Given the description of an element on the screen output the (x, y) to click on. 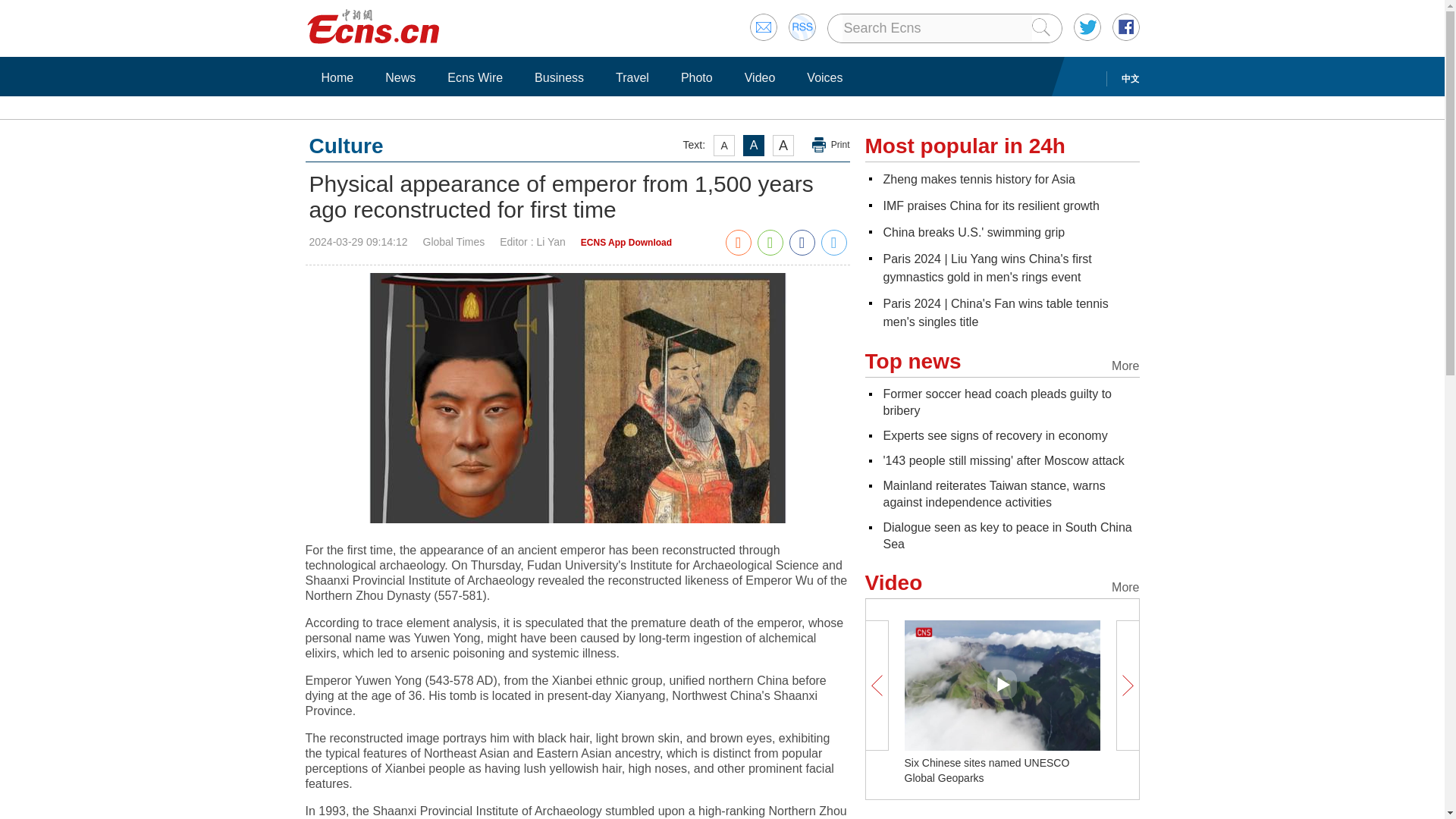
Home (337, 77)
Business (558, 77)
Voices (823, 77)
Search Ecns (935, 27)
Ecns Wire (475, 77)
Photo (696, 77)
Zheng (978, 178)
News (400, 77)
IMF (990, 205)
Paris (986, 267)
Travel (632, 77)
Paris (995, 312)
ECNS App Download (625, 242)
Print (831, 144)
Video (760, 77)
